Given the description of an element on the screen output the (x, y) to click on. 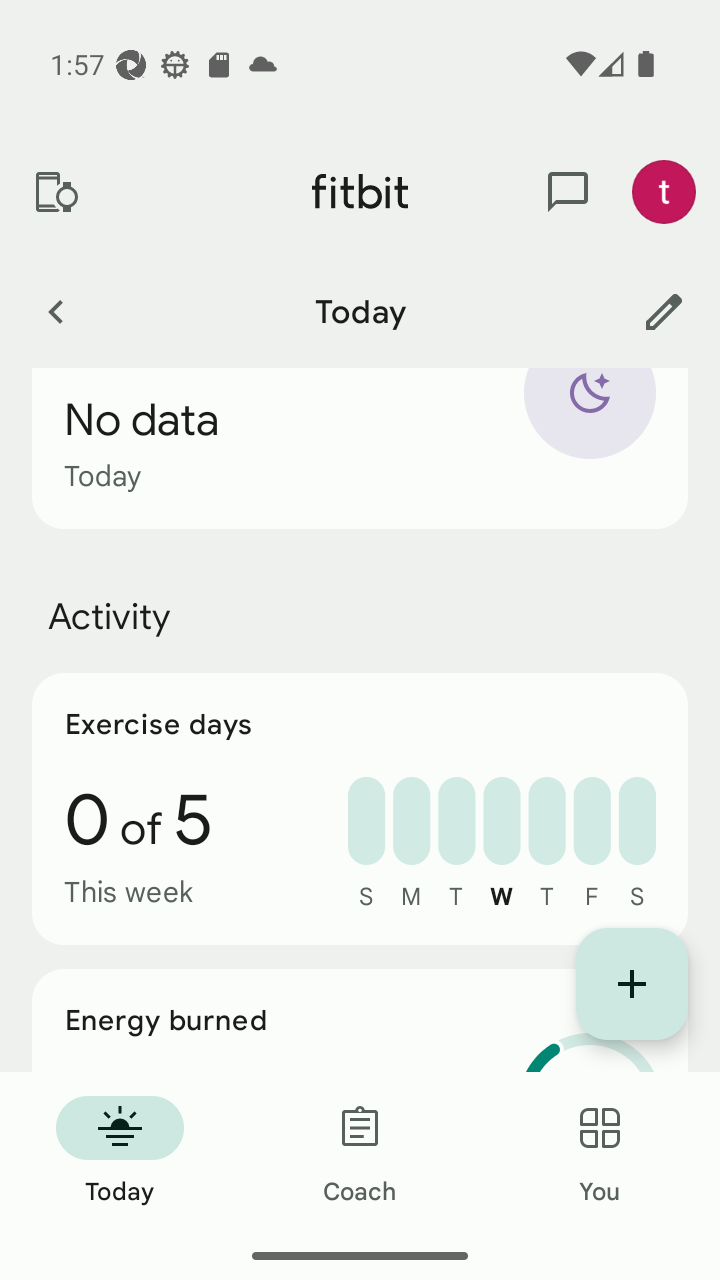
Devices and apps (55, 191)
messages and notifications (567, 191)
Previous Day (55, 311)
Customize (664, 311)
No data Today Sleep static arc (359, 448)
Exercise days 0 of 5 This week (359, 808)
Display list of quick log entries (632, 983)
Energy burned 951 cal (359, 1020)
Coach (359, 1151)
You (600, 1151)
